Given the description of an element on the screen output the (x, y) to click on. 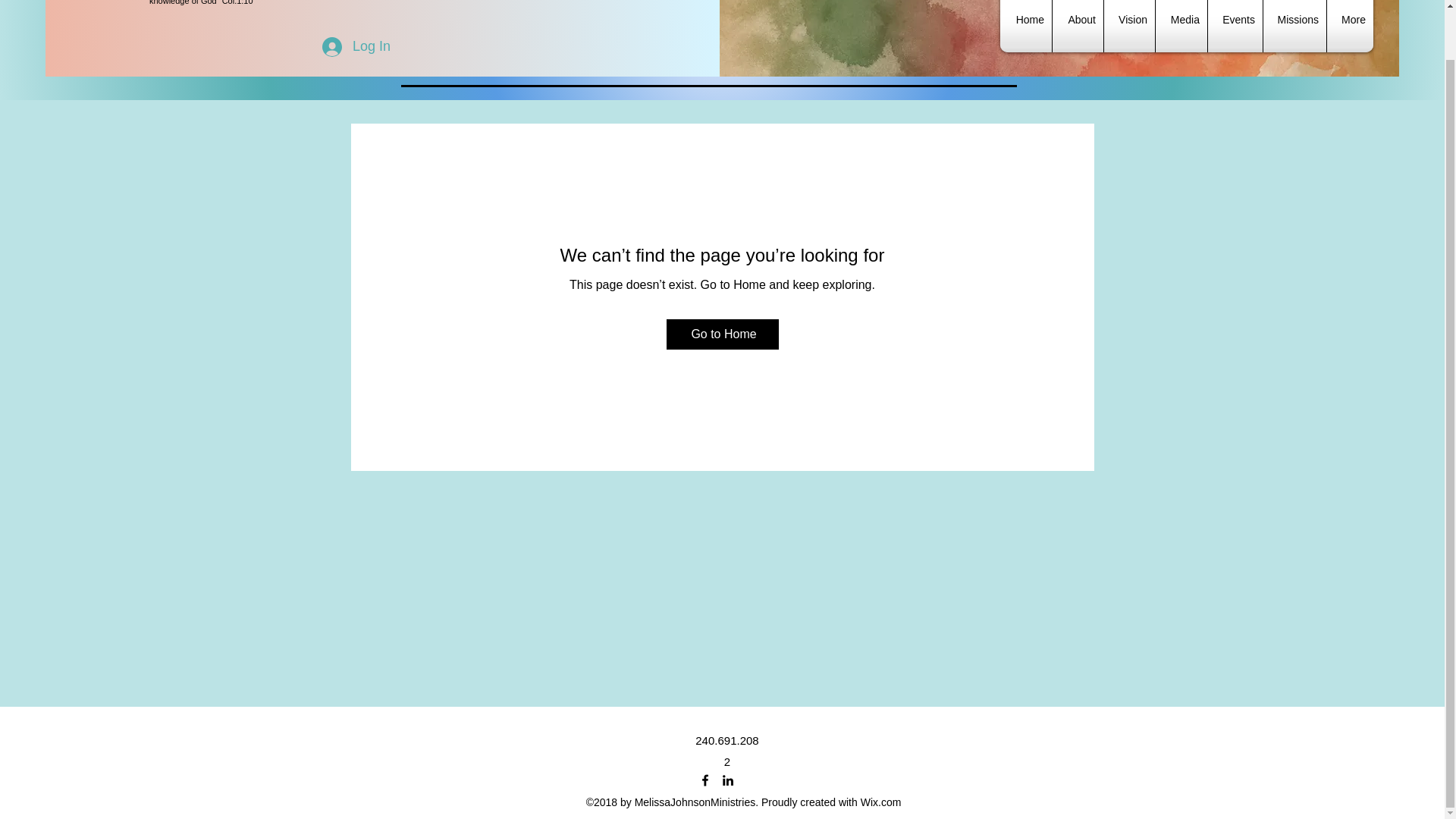
Vision (1128, 26)
Events (1235, 26)
Log In (356, 46)
Media (1181, 26)
About (1077, 26)
Missions (1294, 26)
Go to Home (721, 334)
Home (1025, 26)
